Given the description of an element on the screen output the (x, y) to click on. 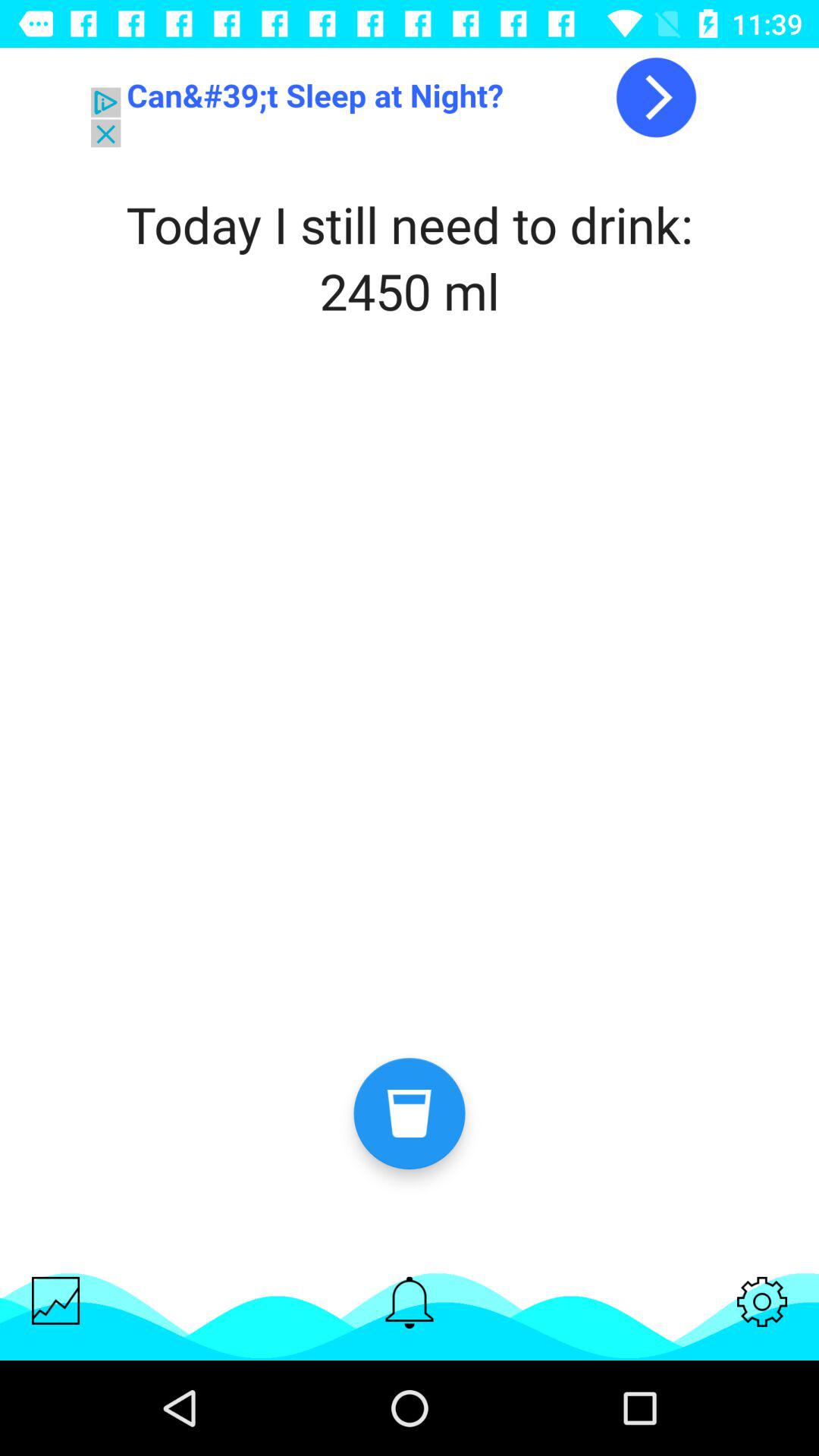
open notifications menu (409, 1302)
